Given the description of an element on the screen output the (x, y) to click on. 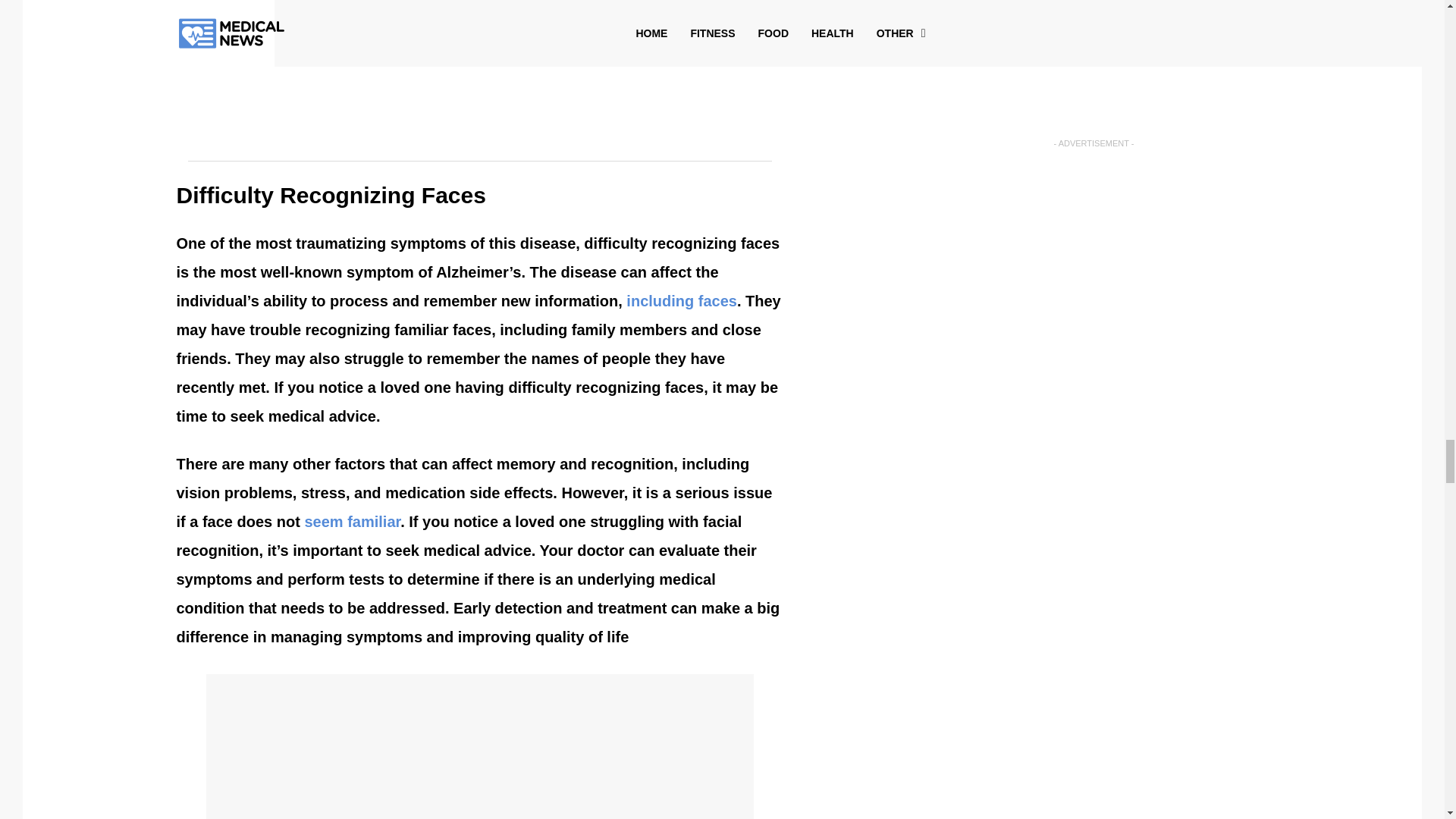
including faces (679, 300)
